Given the description of an element on the screen output the (x, y) to click on. 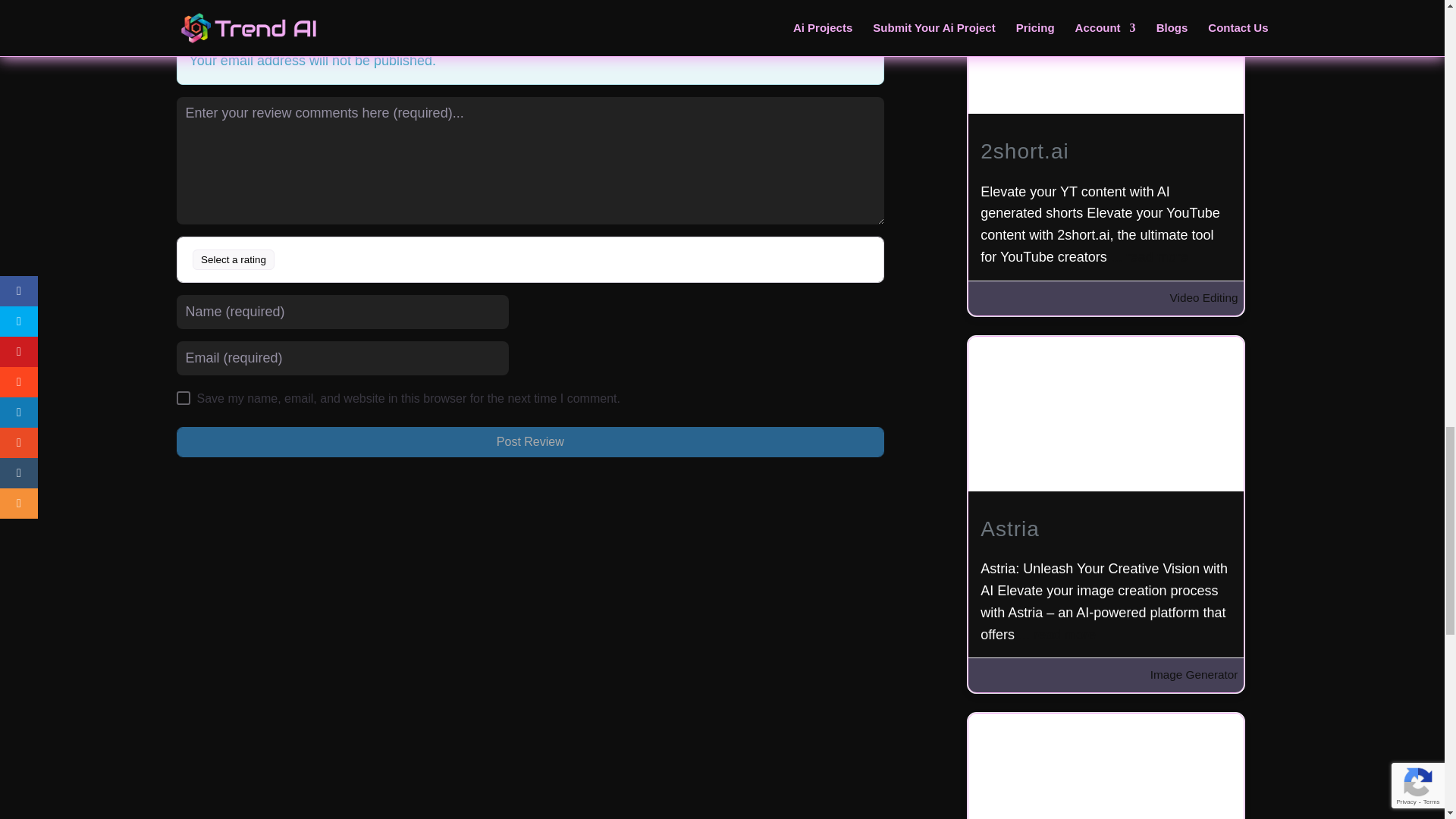
Post Review (529, 441)
yes (182, 397)
Post Review (529, 441)
